Given the description of an element on the screen output the (x, y) to click on. 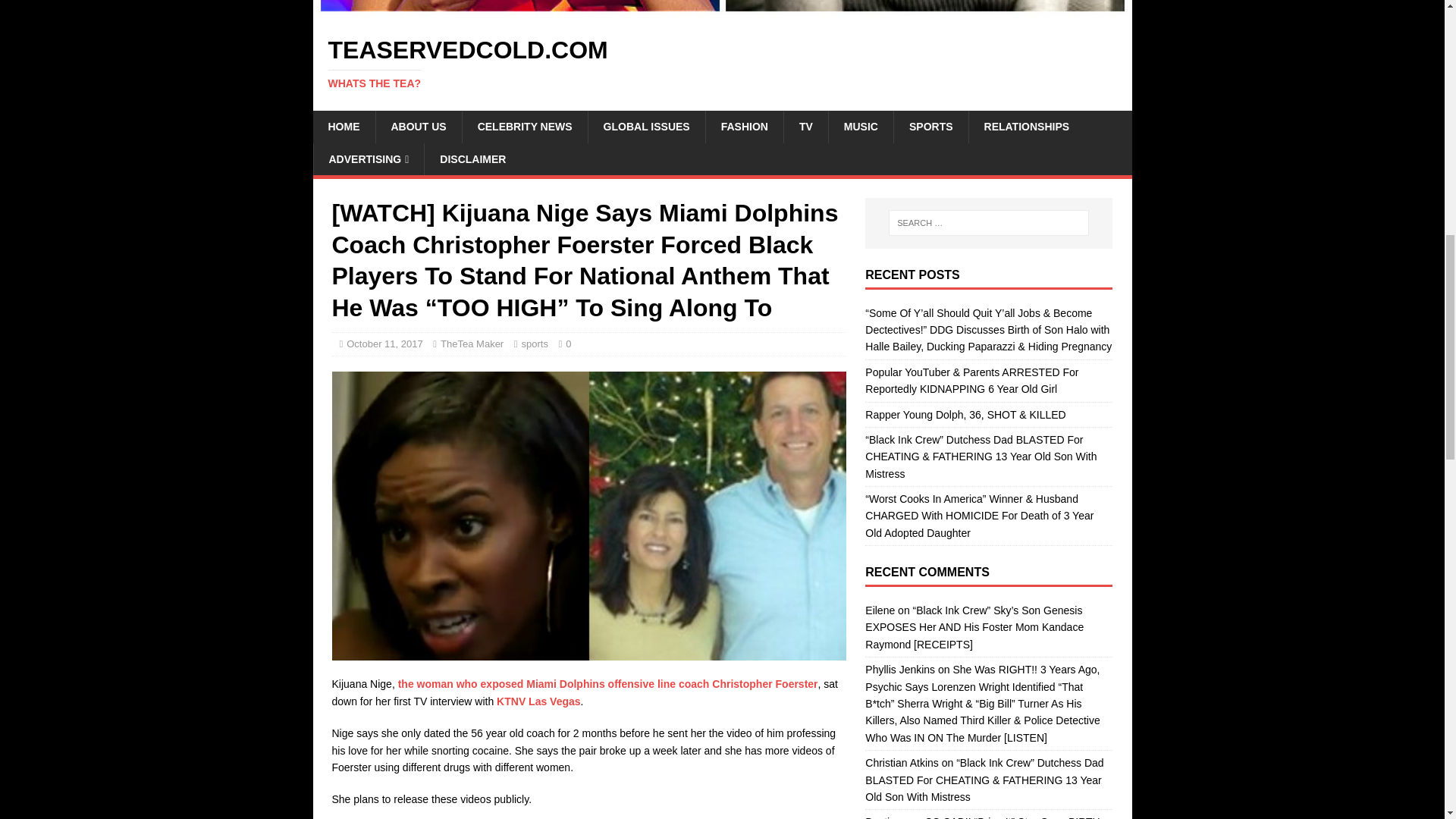
GLOBAL ISSUES (721, 63)
MUSIC (646, 126)
FASHION (860, 126)
Kijuana Nige Christopher Foerster (743, 126)
CELEBRITY NEWS (417, 126)
TheTea Maker (524, 126)
DISCLAIMER (472, 343)
sports (472, 159)
KTNV Las Vegas (534, 343)
RELATIONSHIPS (538, 701)
October 11, 2017 (1026, 126)
TV (384, 343)
